Given the description of an element on the screen output the (x, y) to click on. 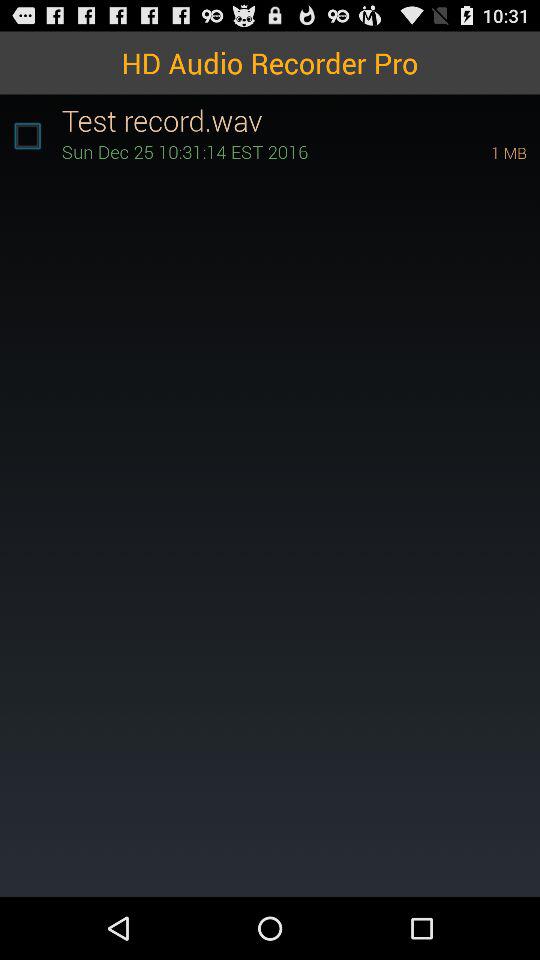
turn off test record.wav icon (300, 120)
